Given the description of an element on the screen output the (x, y) to click on. 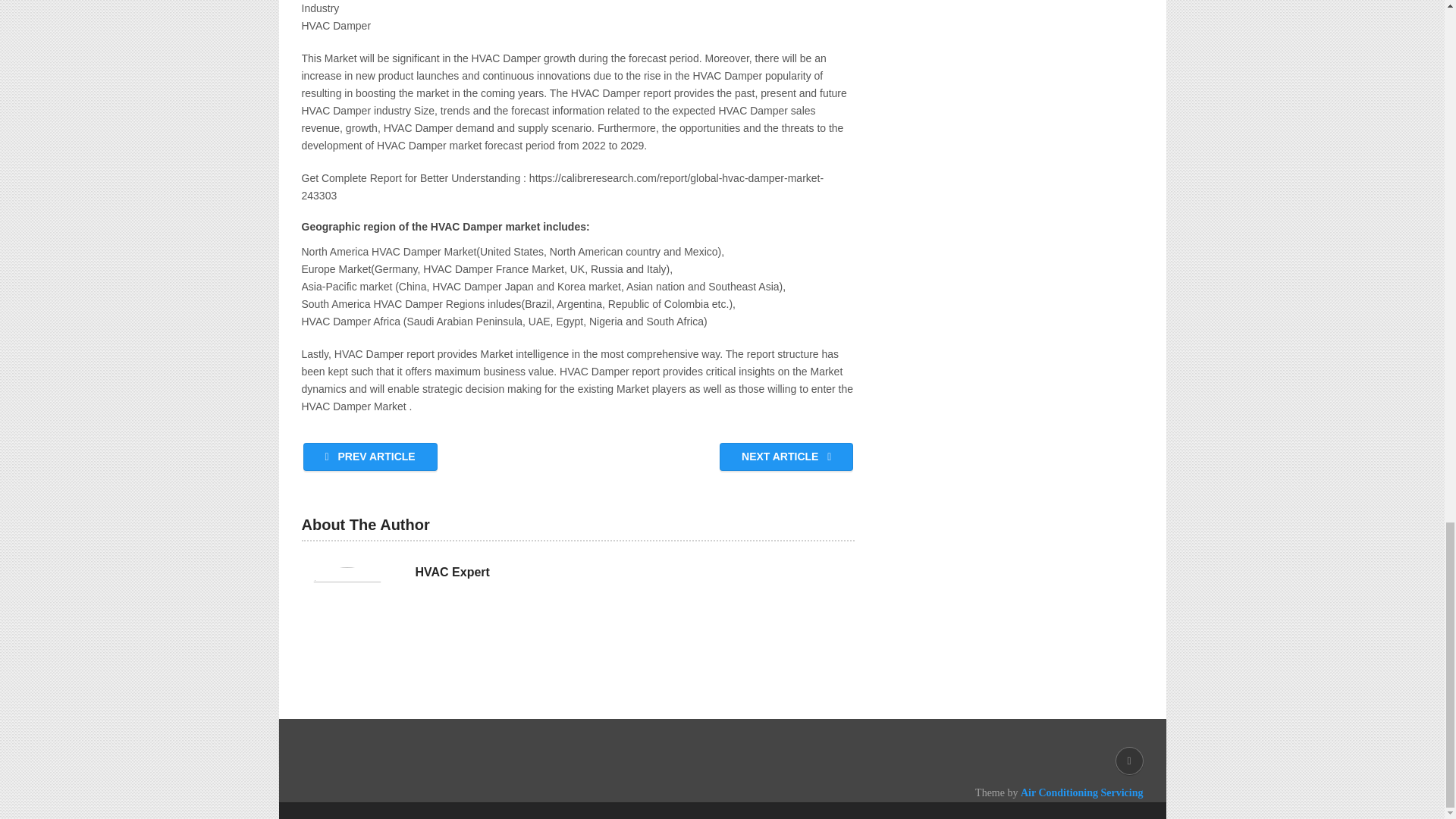
Air Conditioning Servicing (1081, 792)
HVAC Expert (451, 572)
NEXT ARTICLE (786, 456)
AIR CONDITIONING SERVICING (464, 792)
PREV ARTICLE (370, 456)
 AIR CONDITIONING SERVICING DAILY (464, 792)
